Given the description of an element on the screen output the (x, y) to click on. 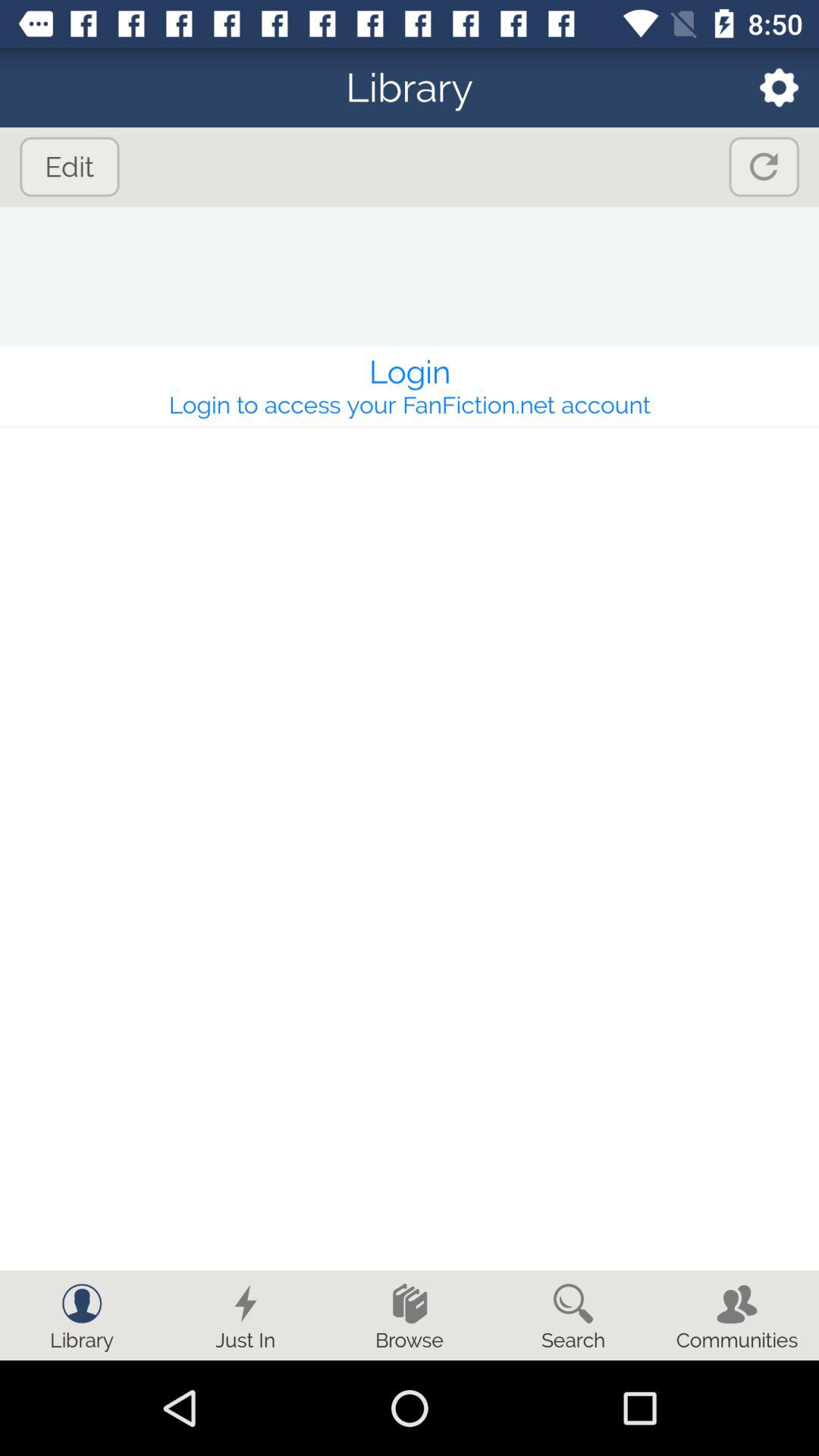
choose icon to the right of library icon (769, 87)
